Given the description of an element on the screen output the (x, y) to click on. 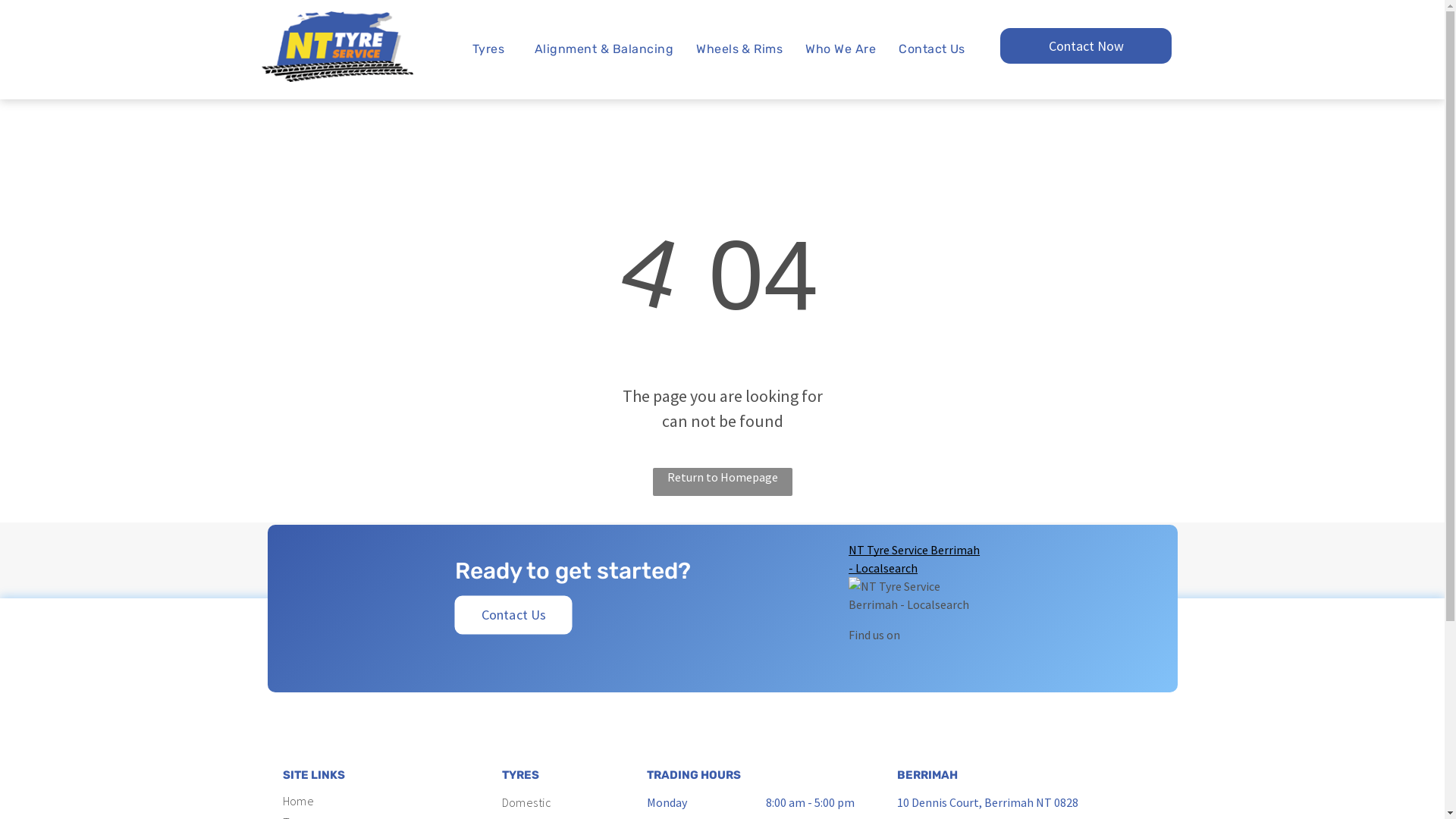
Contact Us Element type: text (931, 49)
Who We Are Element type: text (840, 49)
Return to Homepage Element type: text (721, 481)
Wheels & Rims Element type: text (738, 49)
Contact Us Element type: text (511, 614)
Domestic Element type: text (569, 803)
NT Tyre Service Berrimah - Localsearch Element type: text (916, 558)
Tyres Element type: text (492, 49)
10 Dennis Court, Berrimah NT 0828 Element type: text (986, 801)
Home Element type: text (349, 801)
Contact Now Element type: text (1085, 45)
Alignment & Balancing Element type: text (603, 49)
